Given the description of an element on the screen output the (x, y) to click on. 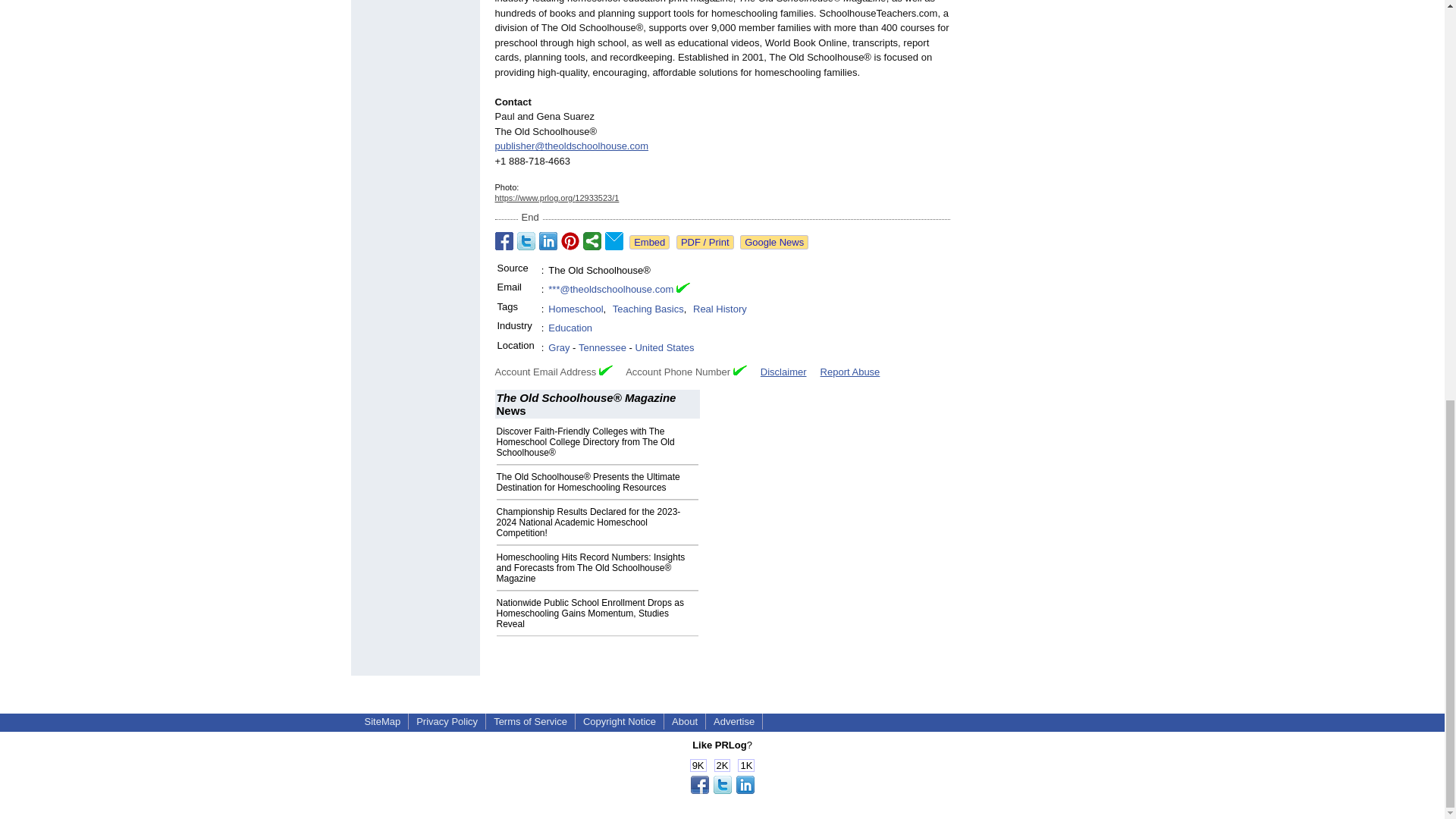
Share on StumbleUpon, Digg, etc (590, 240)
Share on Facebook (503, 240)
See or print the PDF version! (705, 242)
Email Verified (683, 289)
Embed (648, 242)
Verified (605, 370)
Share on LinkedIn (547, 240)
Embed this press release in your website! (648, 242)
Share this page! (722, 790)
Email to a Friend (614, 240)
Share on Pinterest (569, 240)
Verified (739, 370)
Share on Twitter (525, 240)
